Given the description of an element on the screen output the (x, y) to click on. 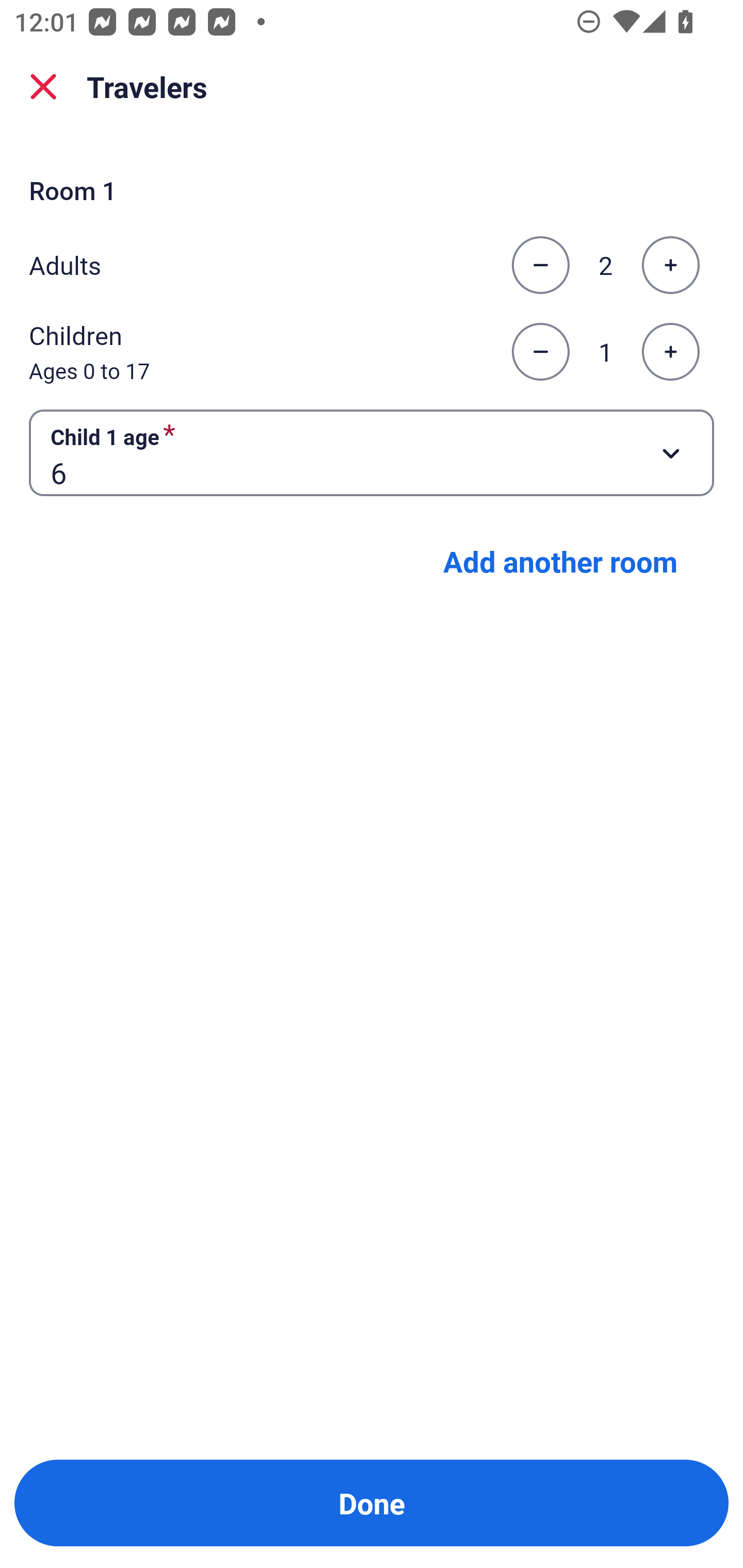
close (43, 86)
Decrease the number of adults (540, 264)
Increase the number of adults (670, 264)
Decrease the number of children (540, 351)
Increase the number of children (670, 351)
Child 1 age required Button 6 (371, 452)
Add another room (560, 561)
Done (371, 1502)
